Given the description of an element on the screen output the (x, y) to click on. 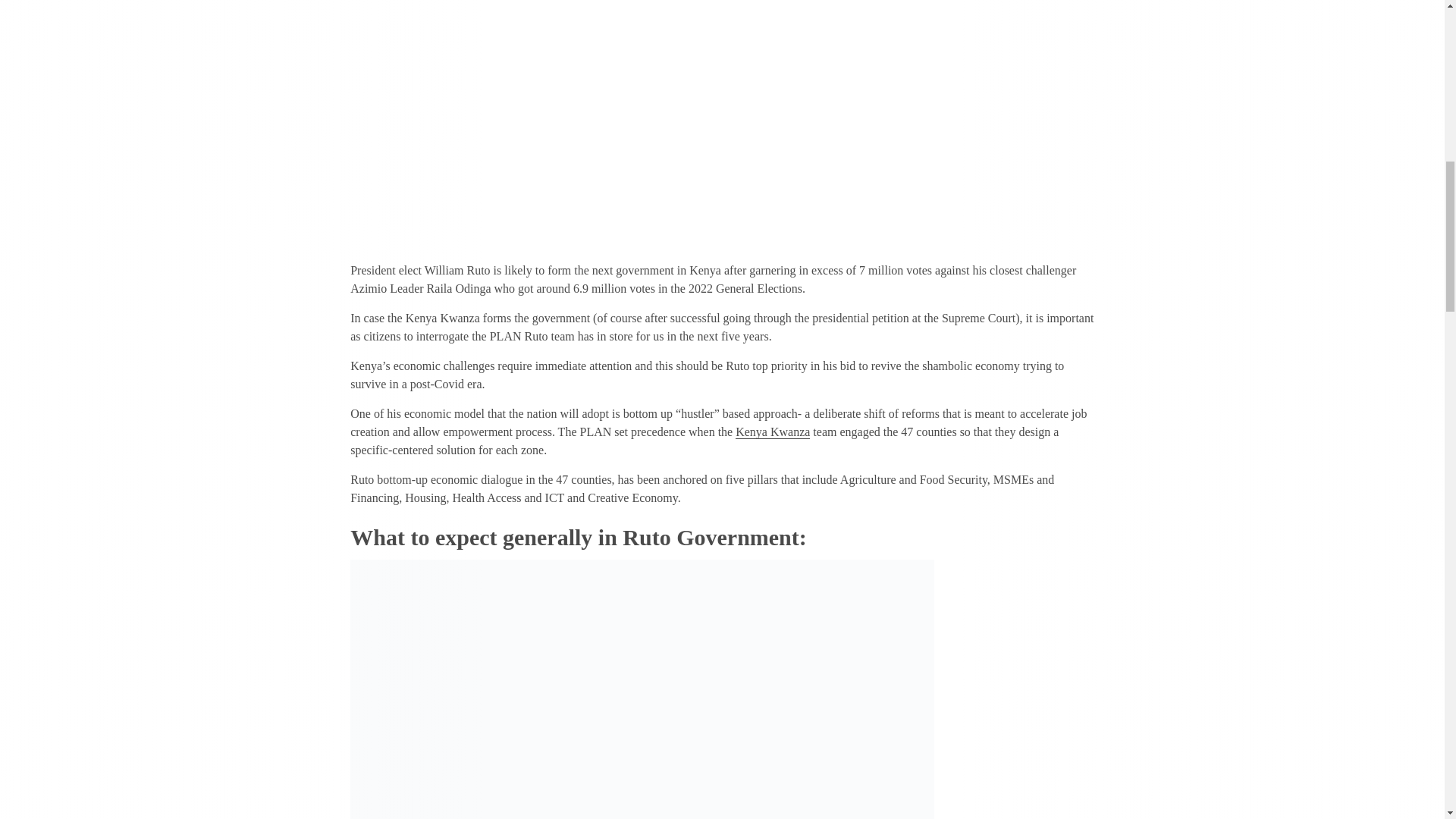
Kenya Kwanza (772, 431)
